Given the description of an element on the screen output the (x, y) to click on. 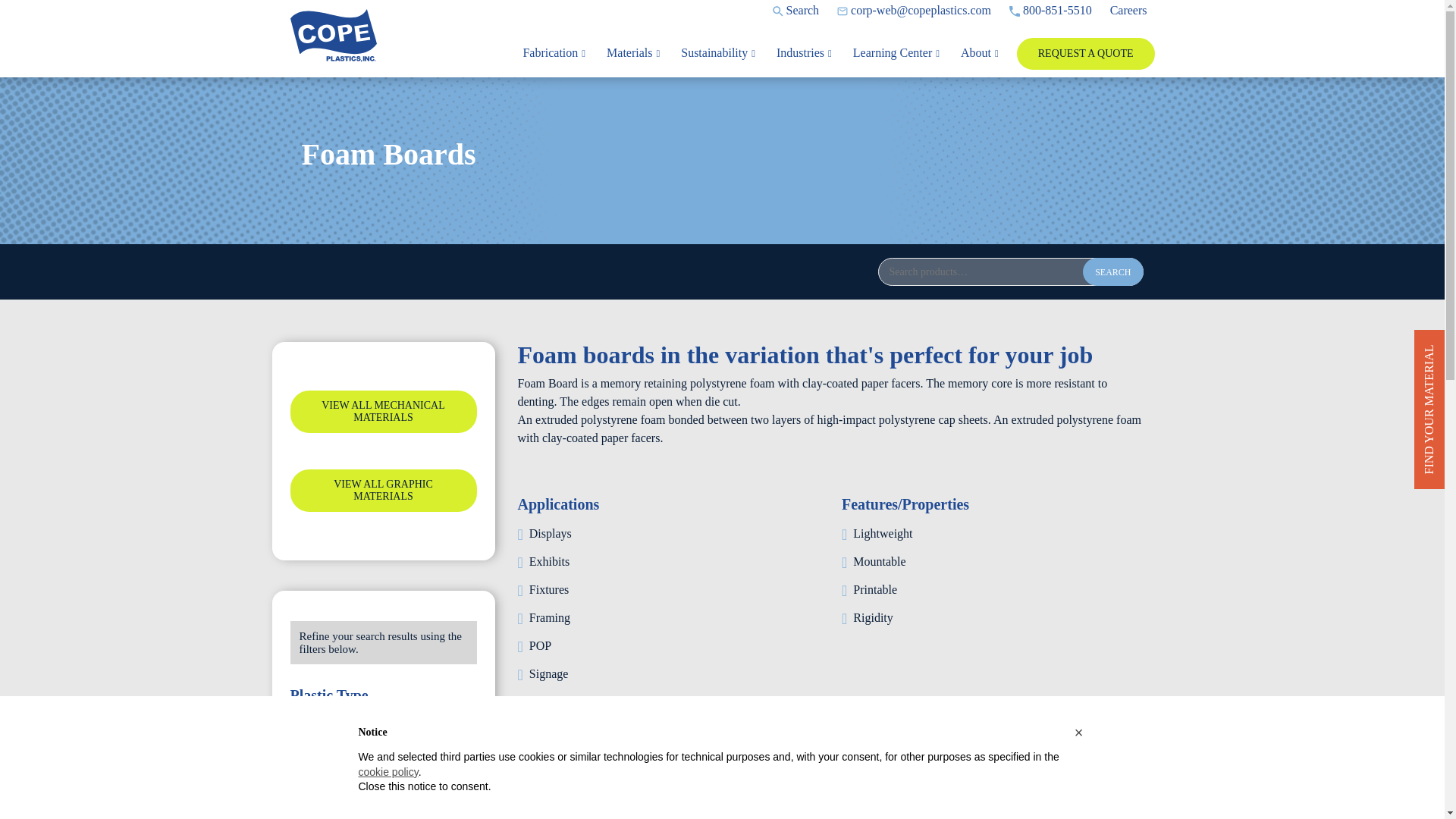
Search Created with Sketch. (778, 10)
Mask Created with Sketch. (842, 10)
Mask Created with Sketch. (1014, 10)
Sheet (349, 812)
